Given the description of an element on the screen output the (x, y) to click on. 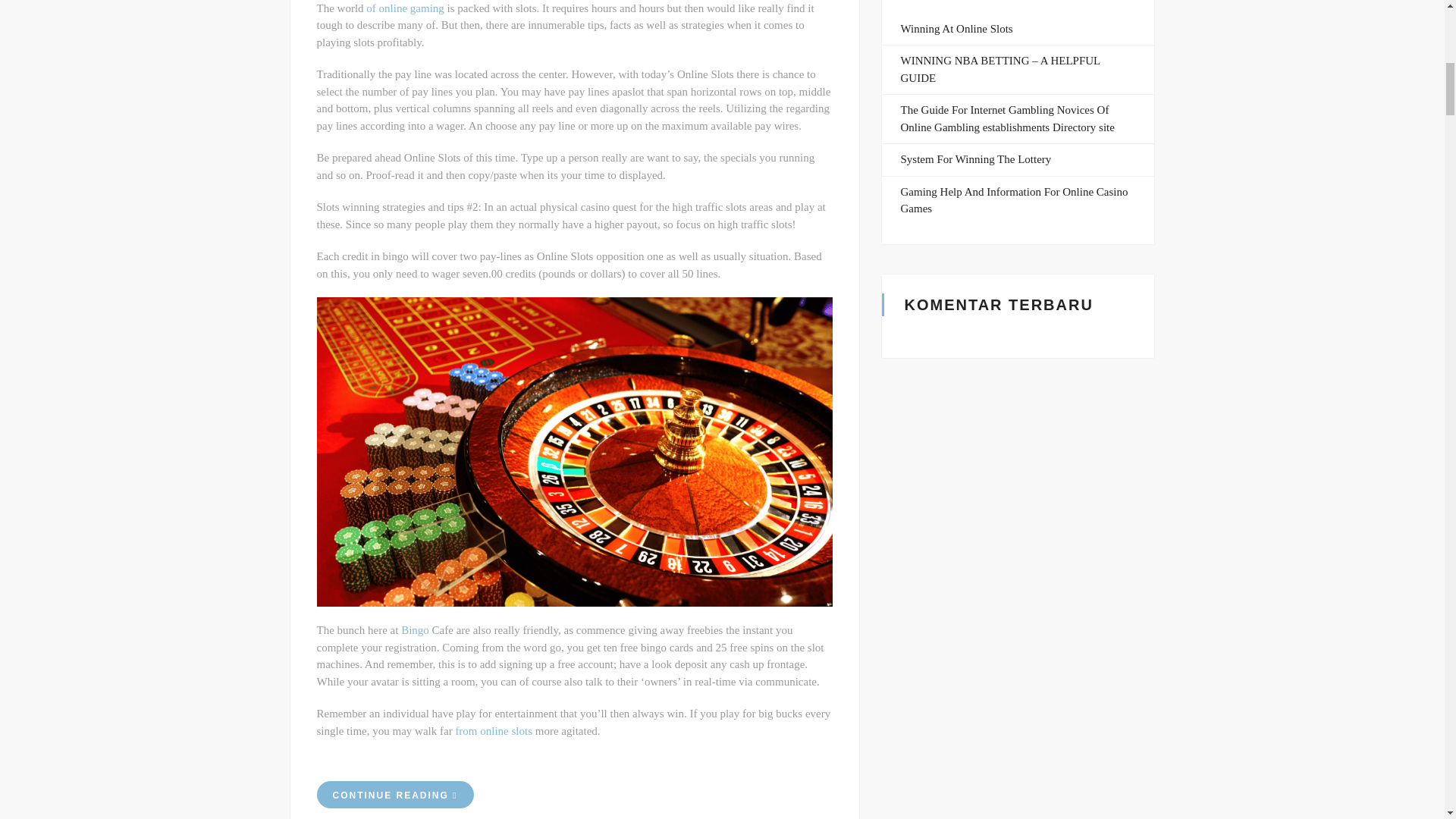
from online slots (493, 730)
of online gaming (405, 7)
CONTINUE READING (395, 794)
Bingo (415, 630)
